Given the description of an element on the screen output the (x, y) to click on. 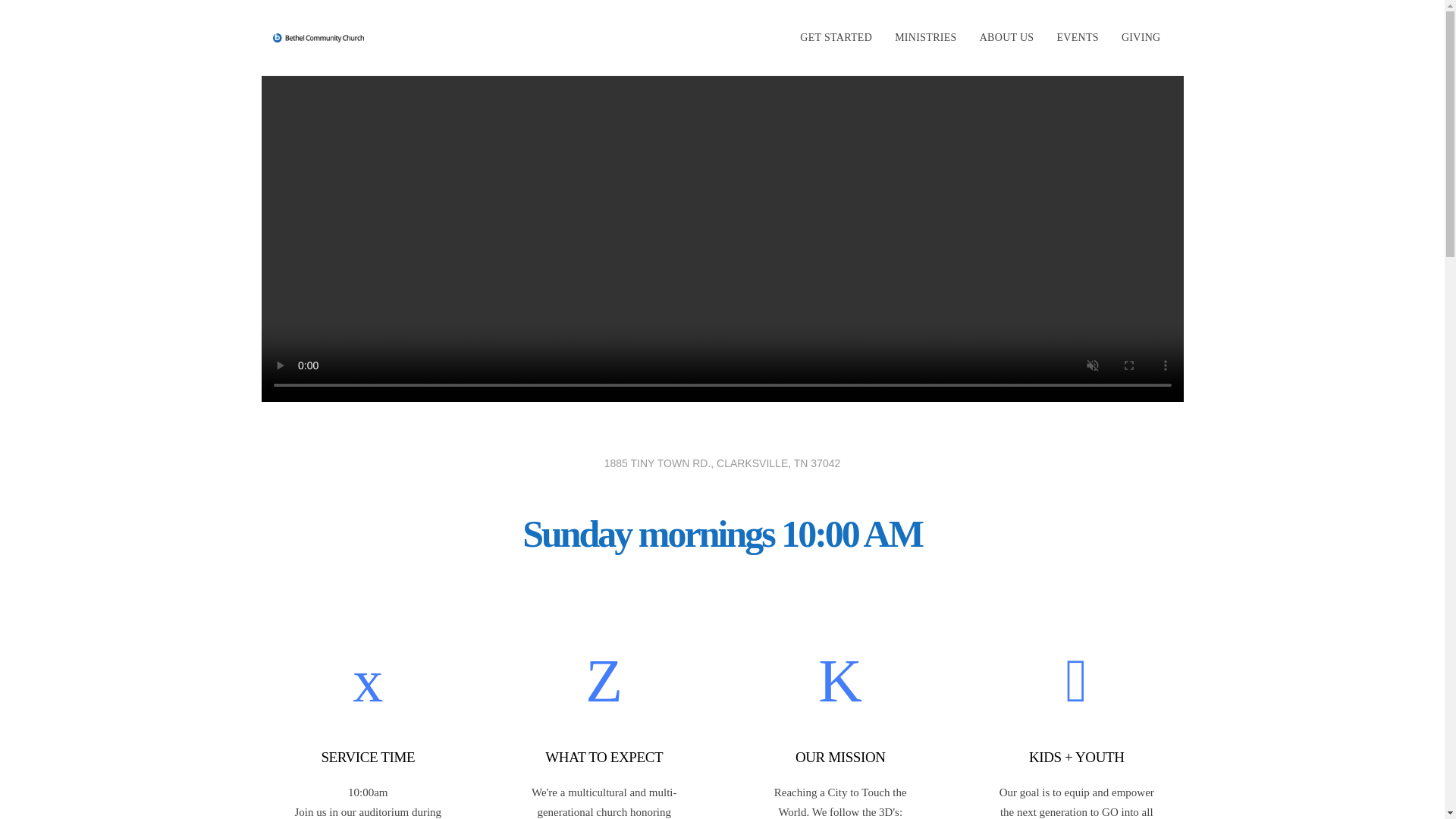
ABOUT US (1006, 38)
1885 TINY TOWN RD., CLARKSVILLE, TN 37042 (722, 463)
GET STARTED (836, 38)
MINISTRIES (925, 38)
